Given the description of an element on the screen output the (x, y) to click on. 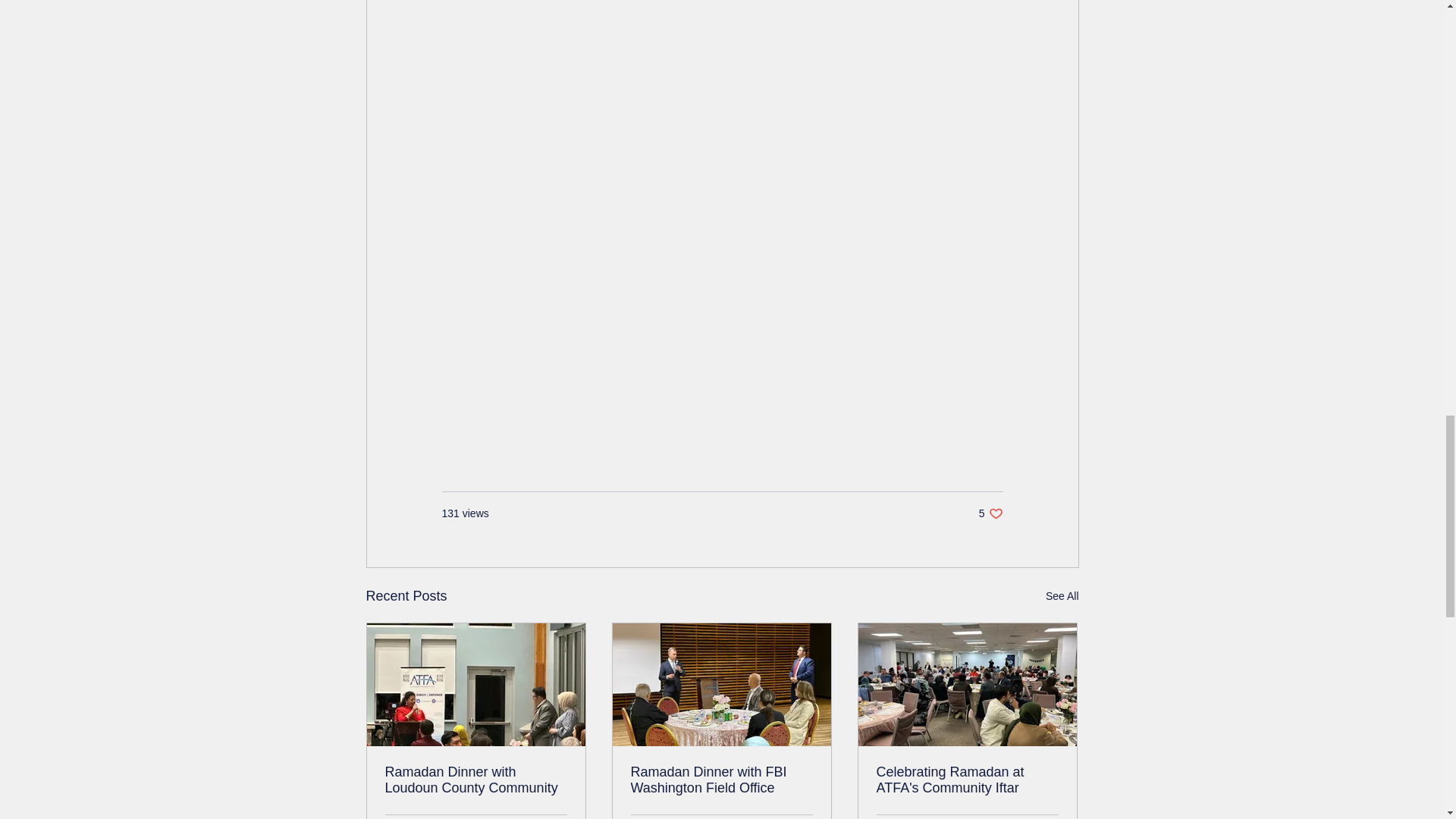
See All (1061, 596)
Ramadan Dinner with Loudoun County Community (476, 780)
Ramadan Dinner with FBI Washington Field Office (990, 513)
Celebrating Ramadan at ATFA's Community Iftar (721, 780)
